Given the description of an element on the screen output the (x, y) to click on. 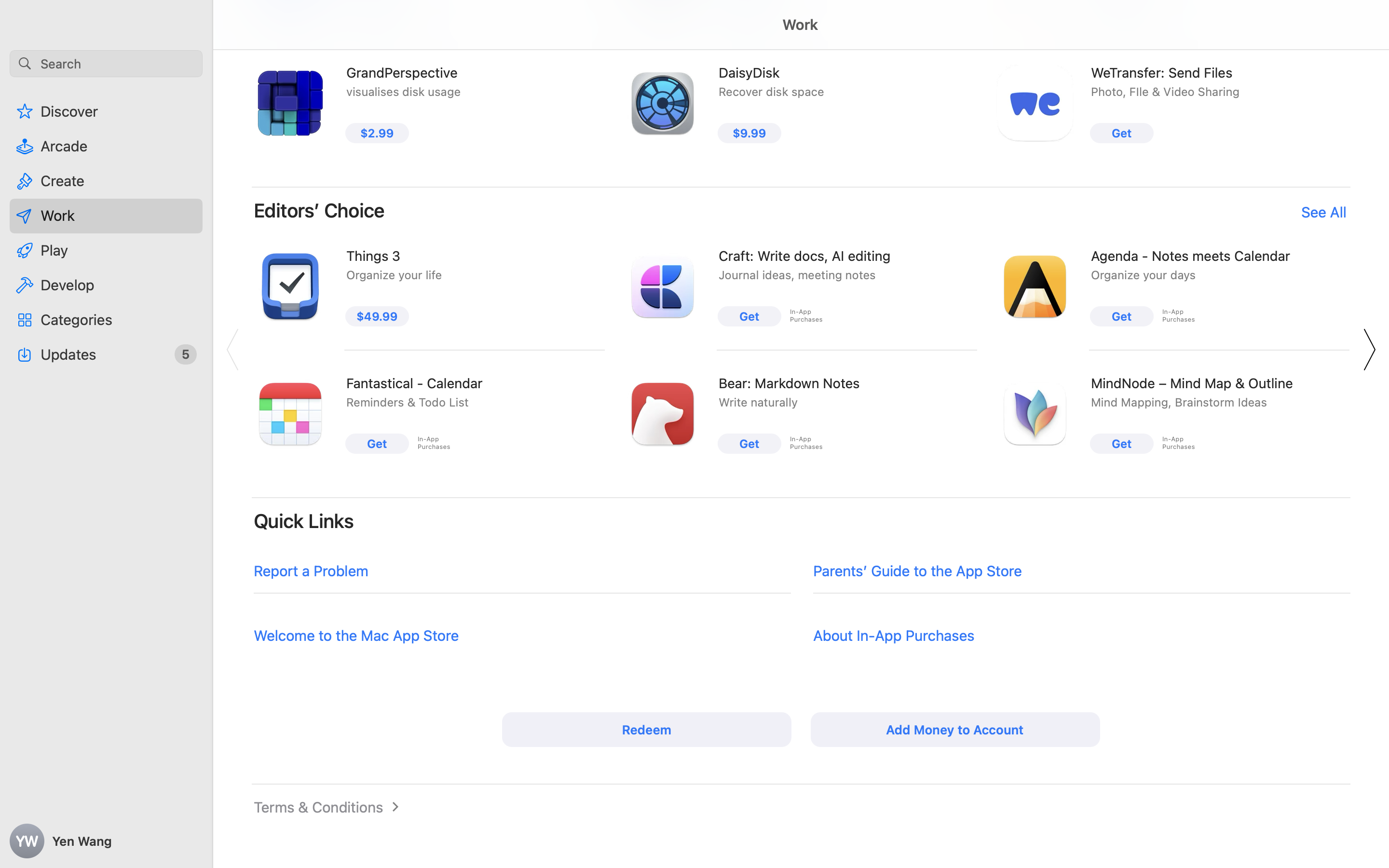
Yen Wang Element type: AXButton (106, 840)
Editors’ Choice Element type: AXStaticText (318, 209)
